Given the description of an element on the screen output the (x, y) to click on. 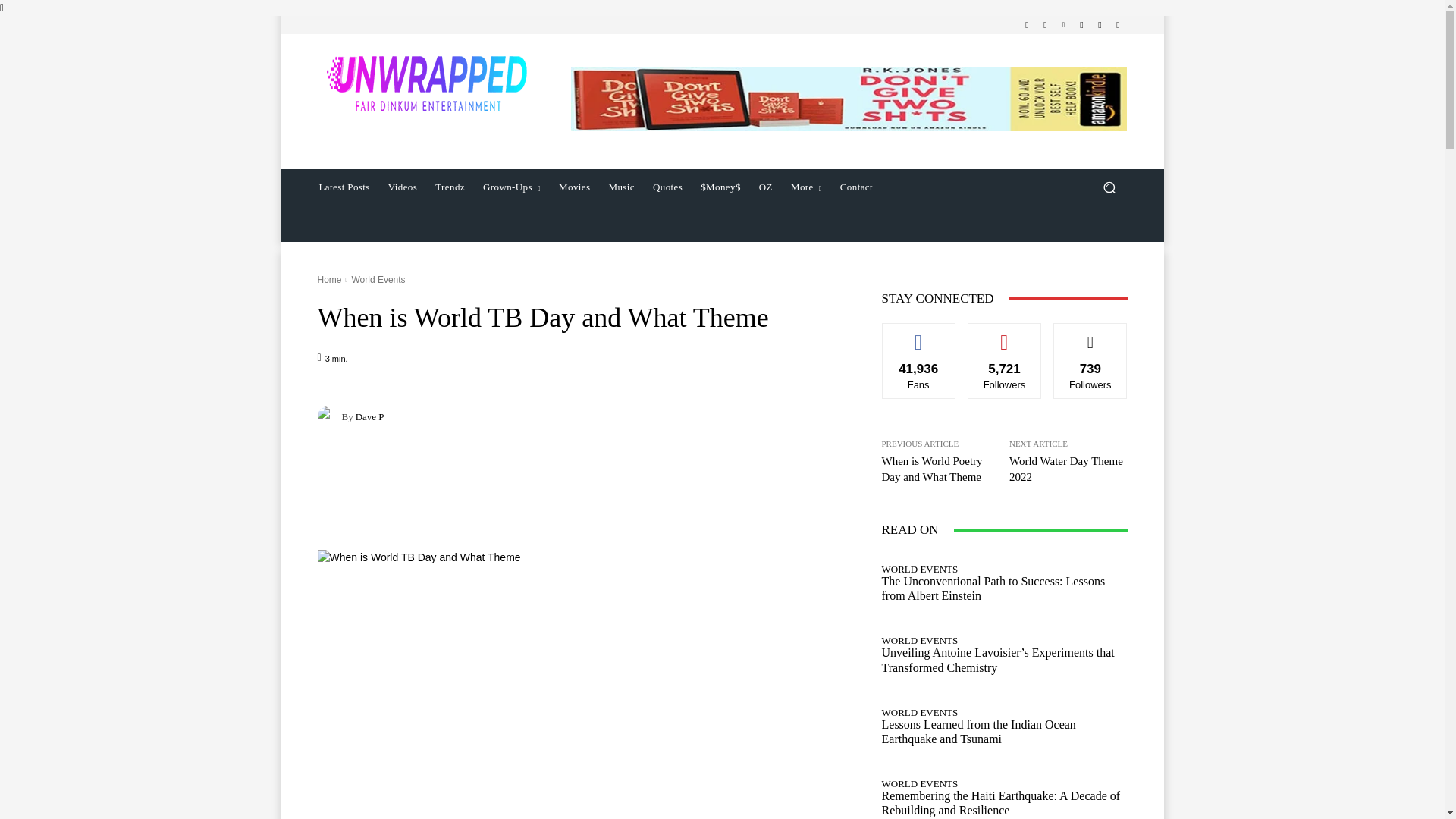
Youtube (1117, 24)
Pinterest (1062, 24)
Twitter (1099, 24)
Instagram (1044, 24)
Facebook (1026, 24)
Soundcloud (1080, 24)
